Given the description of an element on the screen output the (x, y) to click on. 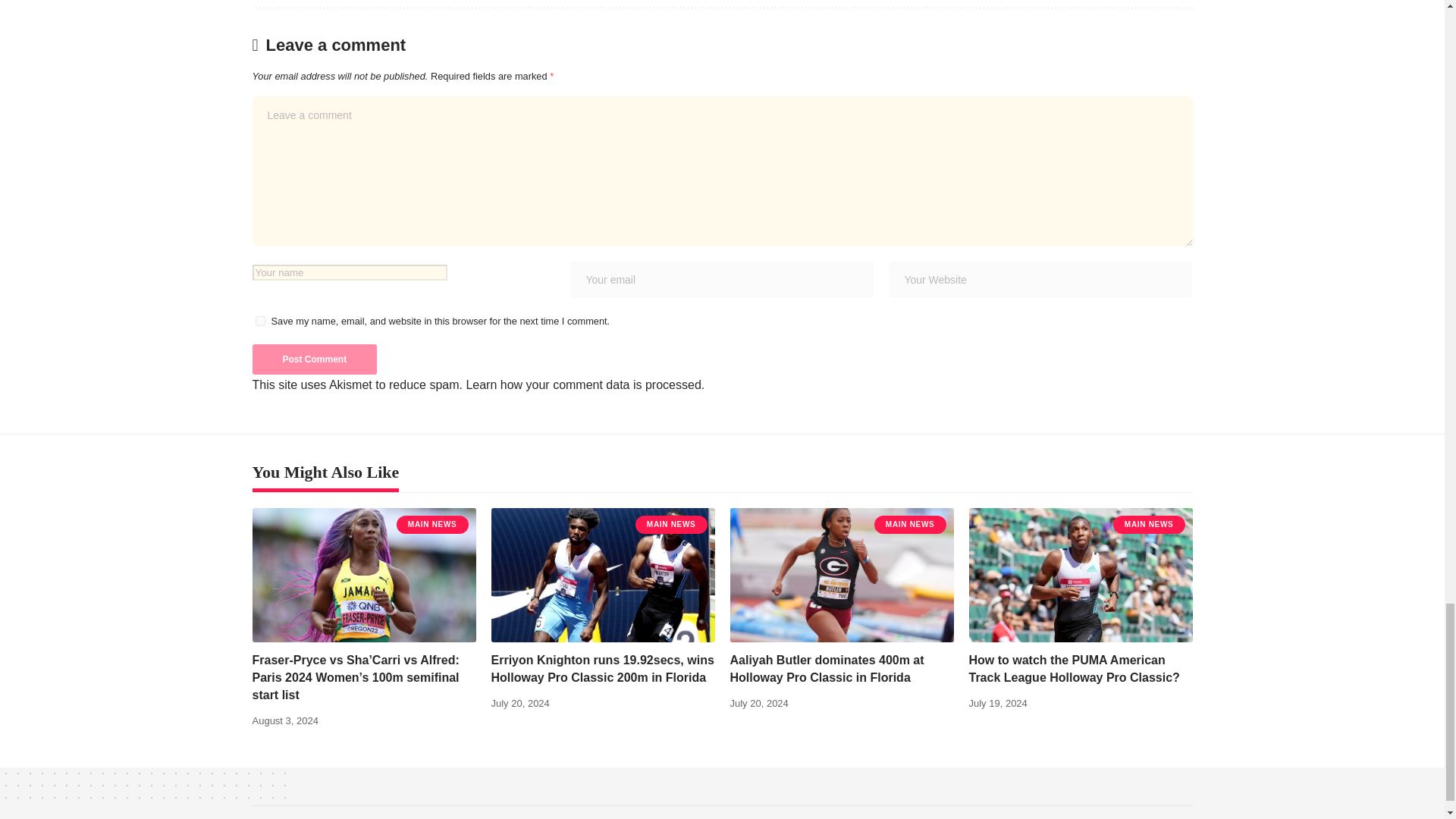
yes (259, 320)
Post Comment (314, 358)
